Given the description of an element on the screen output the (x, y) to click on. 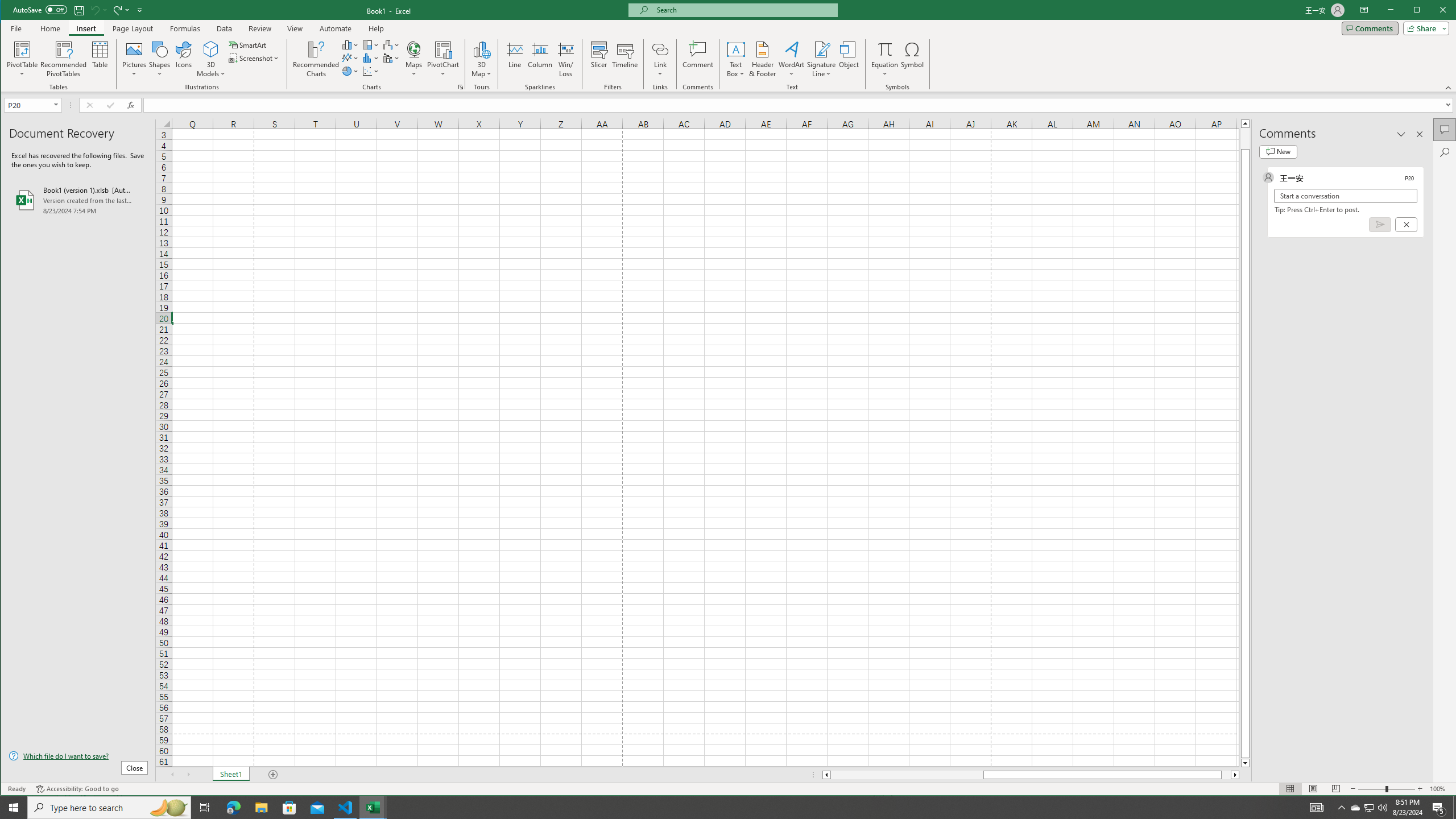
Pictures (134, 59)
Header & Footer... (762, 59)
Link (659, 48)
Shapes (159, 59)
3D Map (481, 59)
Signature Line (821, 48)
3D Map (481, 48)
Signature Line (821, 59)
